Given the description of an element on the screen output the (x, y) to click on. 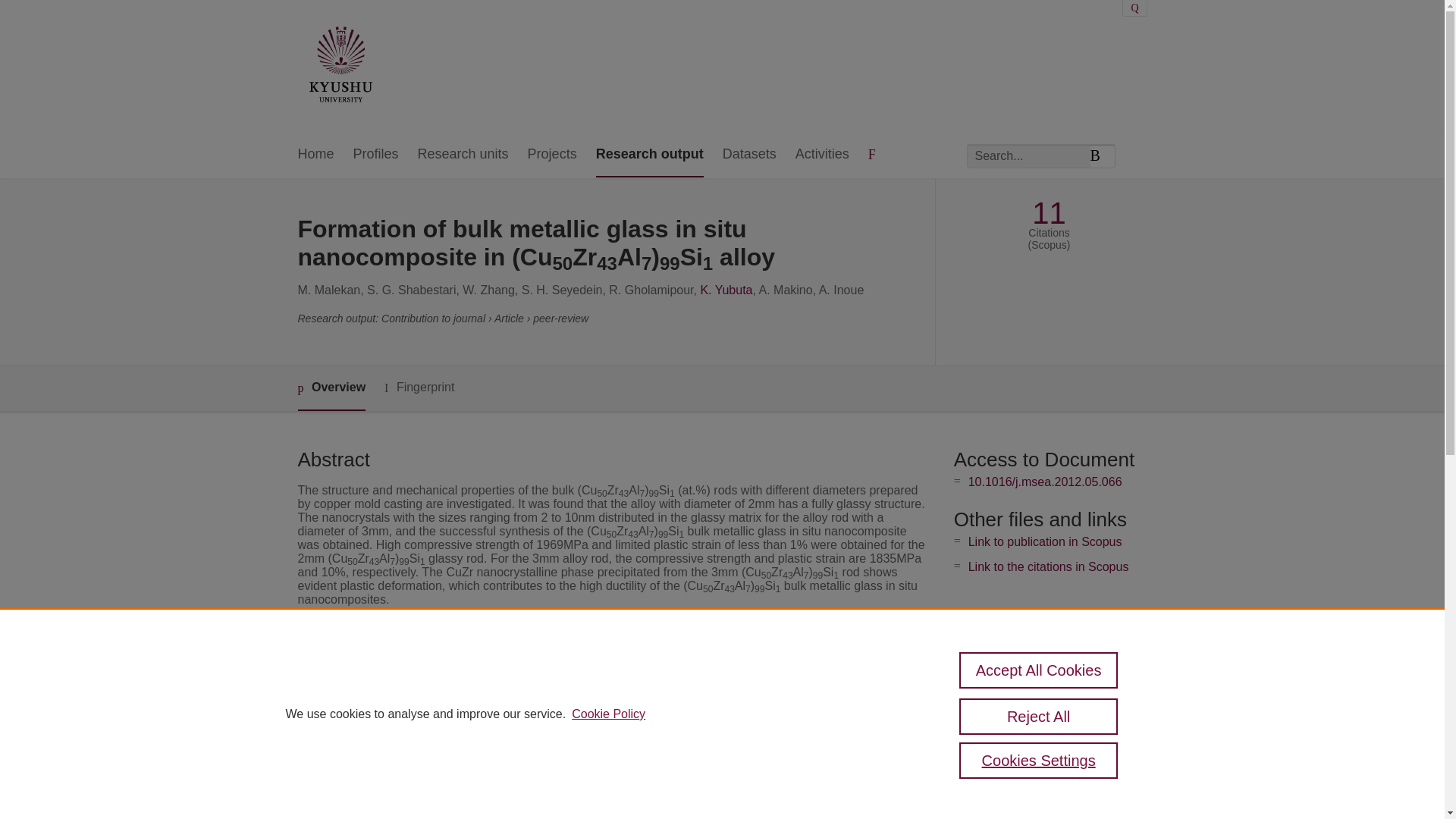
Projects (551, 154)
Research output (649, 154)
11 (1048, 212)
Profiles (375, 154)
Datasets (749, 154)
Link to publication in Scopus (1045, 541)
Overview (331, 388)
Materials Science and Engineering: A (608, 689)
Research units (462, 154)
